Given the description of an element on the screen output the (x, y) to click on. 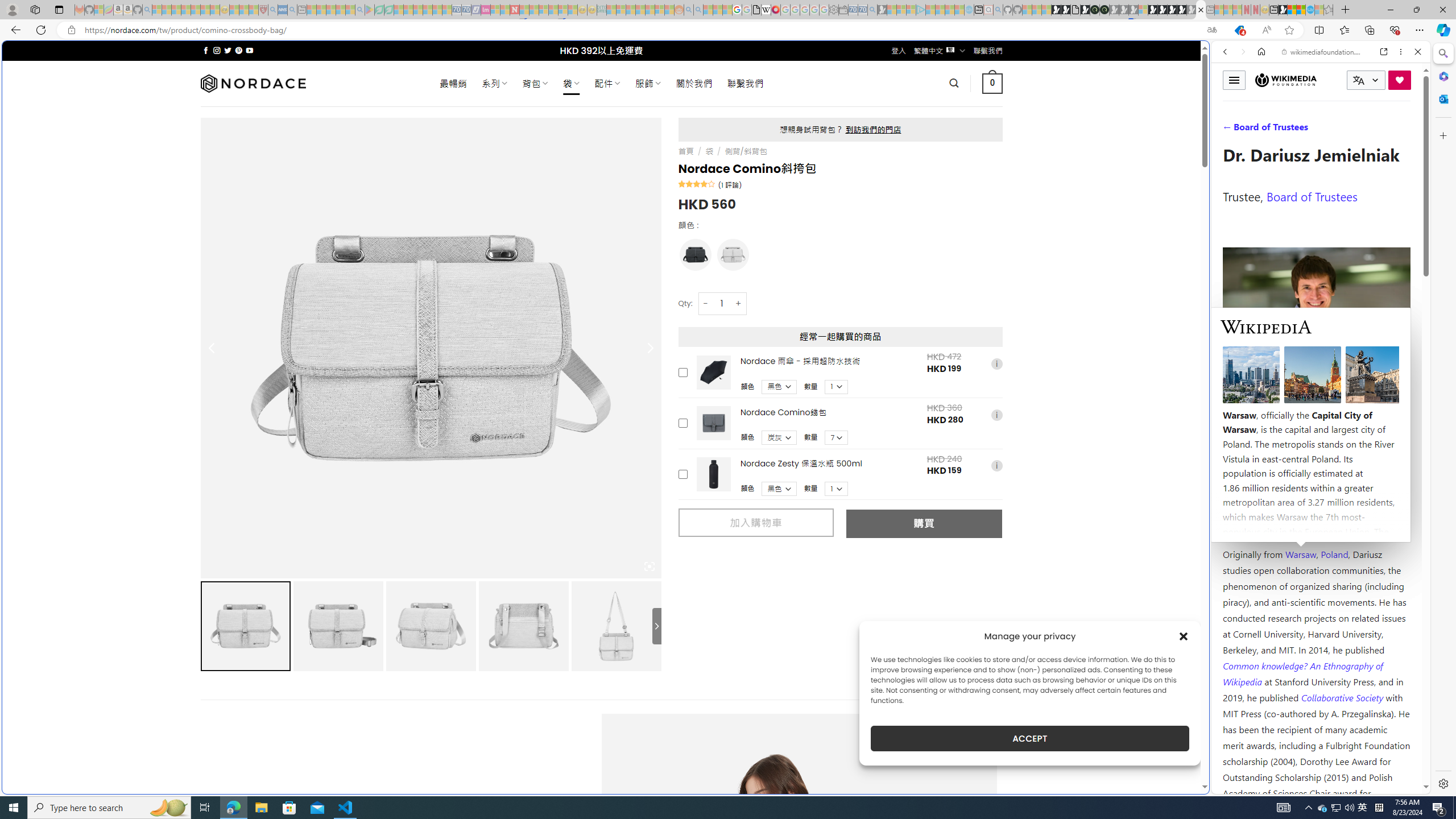
utah sues federal government - Search (922, 389)
